Given the description of an element on the screen output the (x, y) to click on. 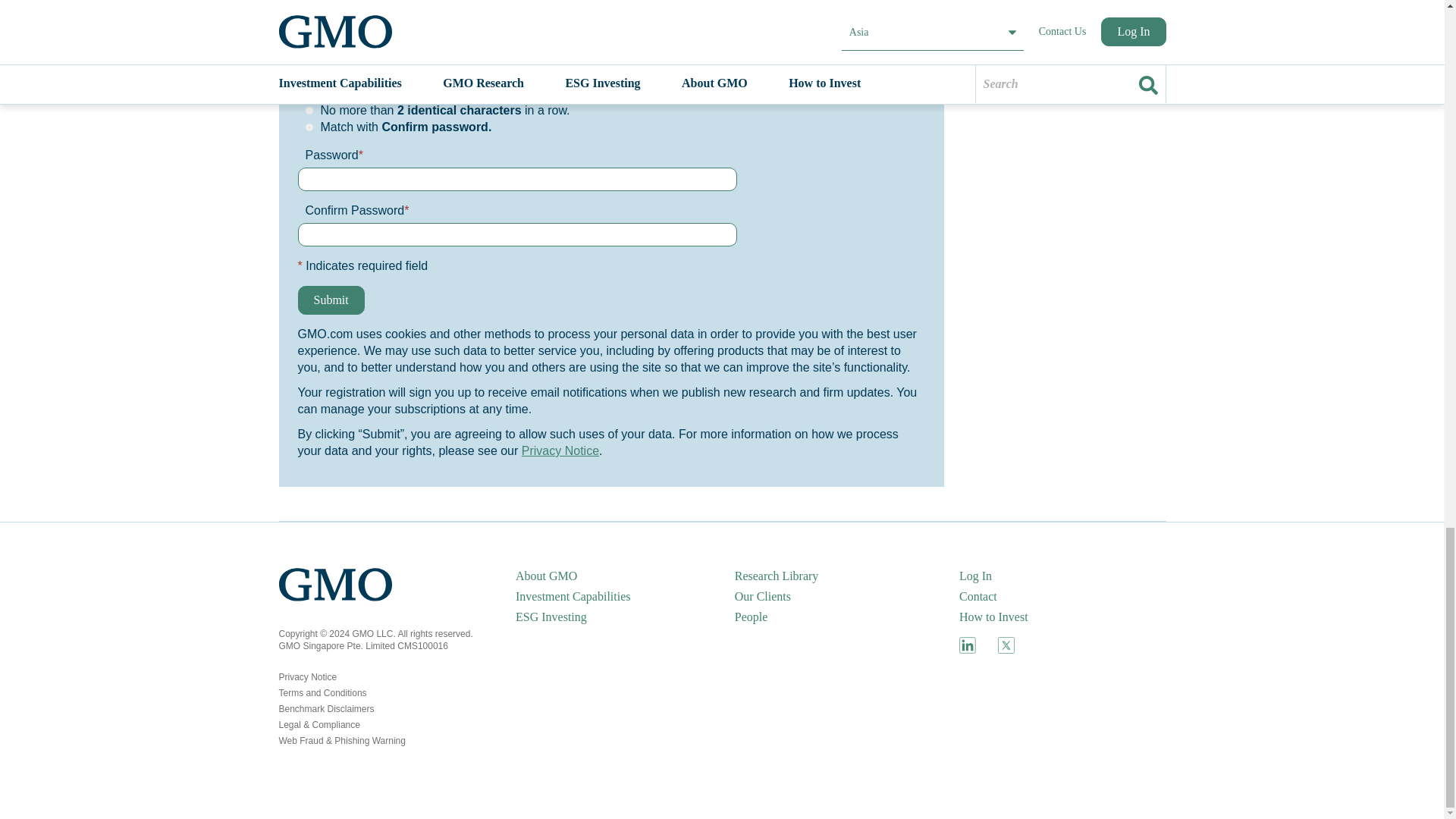
Submit (330, 299)
